Given the description of an element on the screen output the (x, y) to click on. 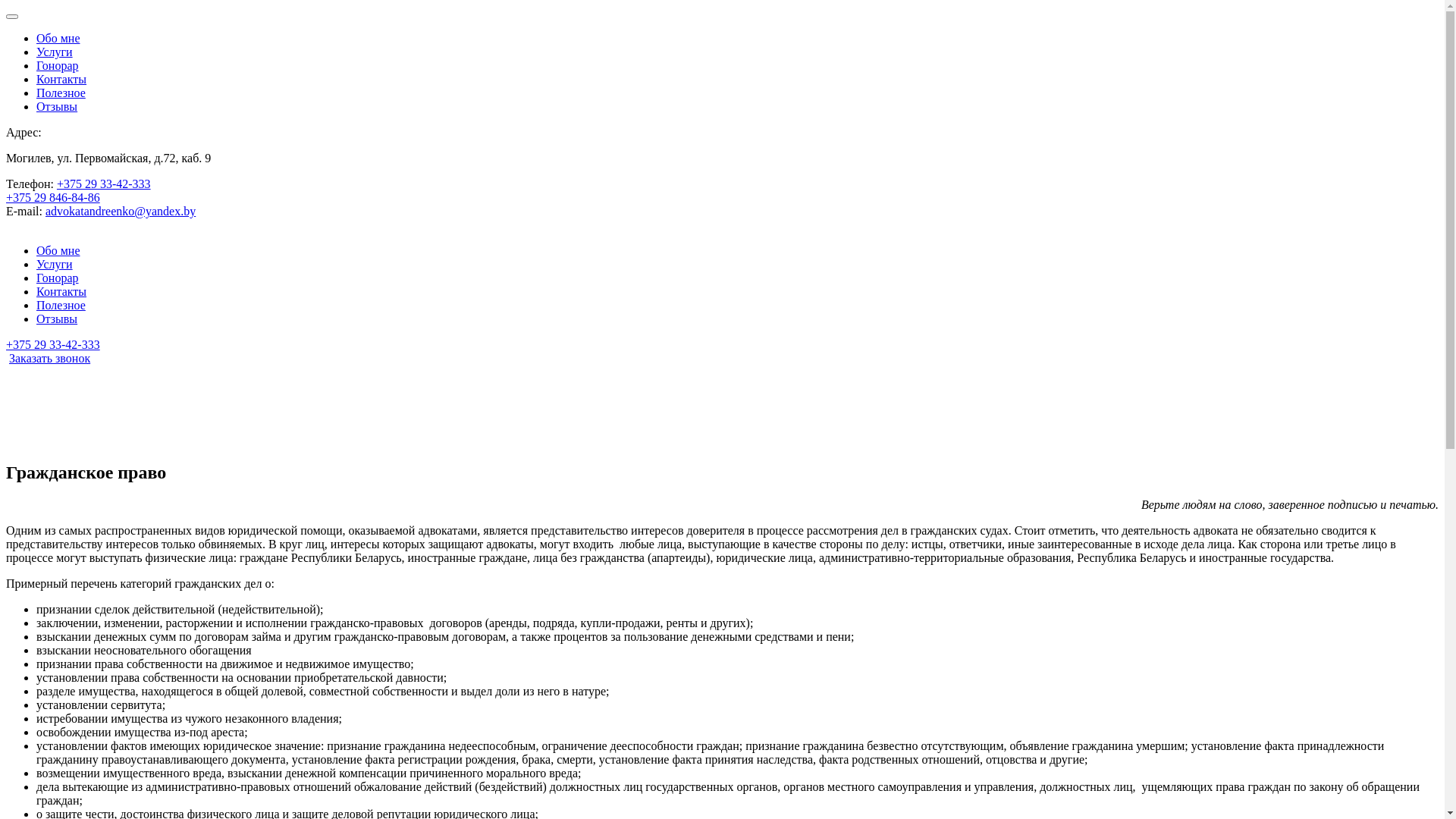
+375 29 33-42-333 Element type: text (53, 344)
+375 29 846-84-86 Element type: text (53, 197)
advokatandreenko@yandex.by Element type: text (120, 210)
+375 29 33-42-333 Element type: text (103, 183)
